Given the description of an element on the screen output the (x, y) to click on. 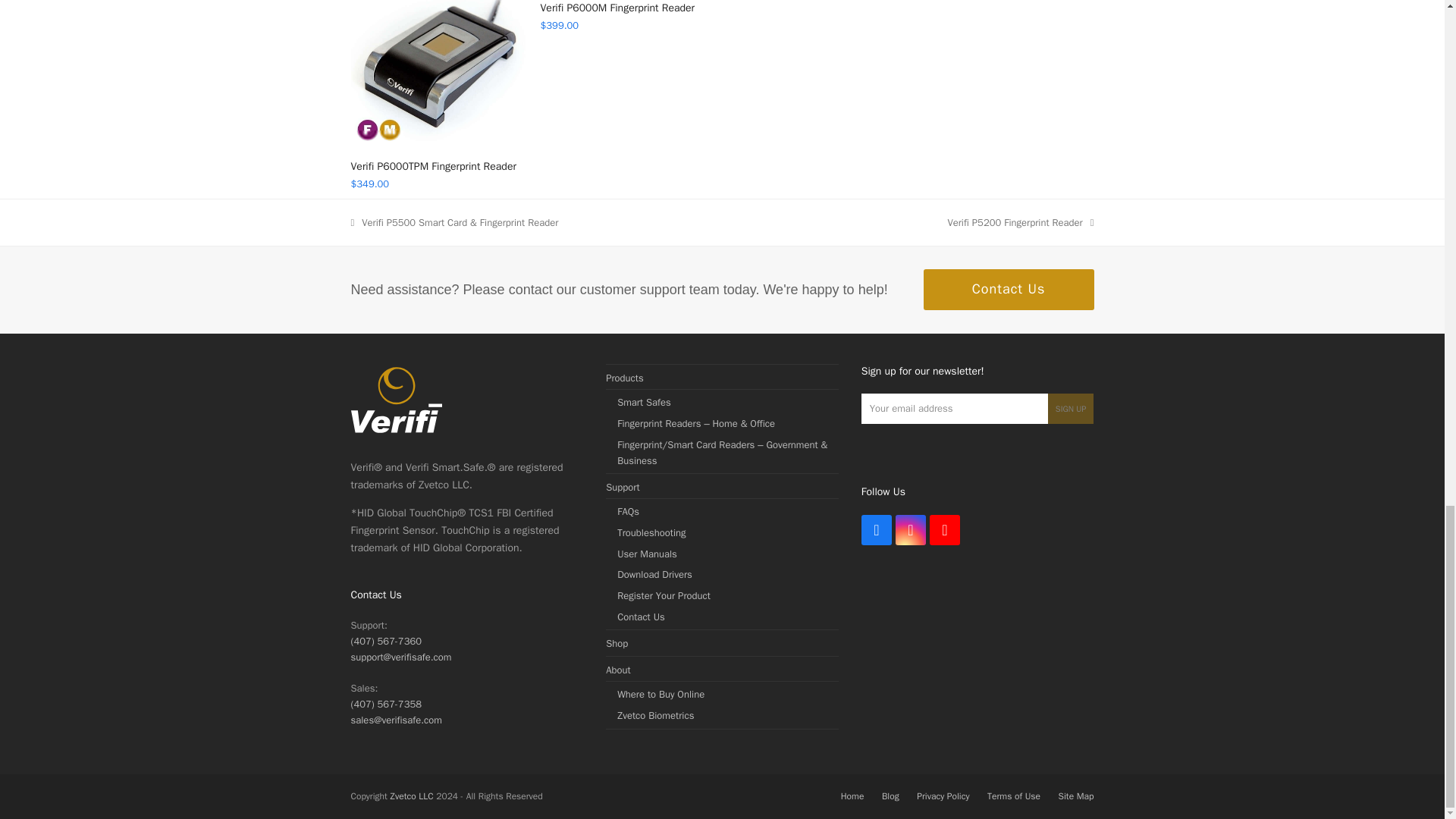
Instagram (910, 530)
YouTube (944, 530)
Facebook (876, 530)
